Given the description of an element on the screen output the (x, y) to click on. 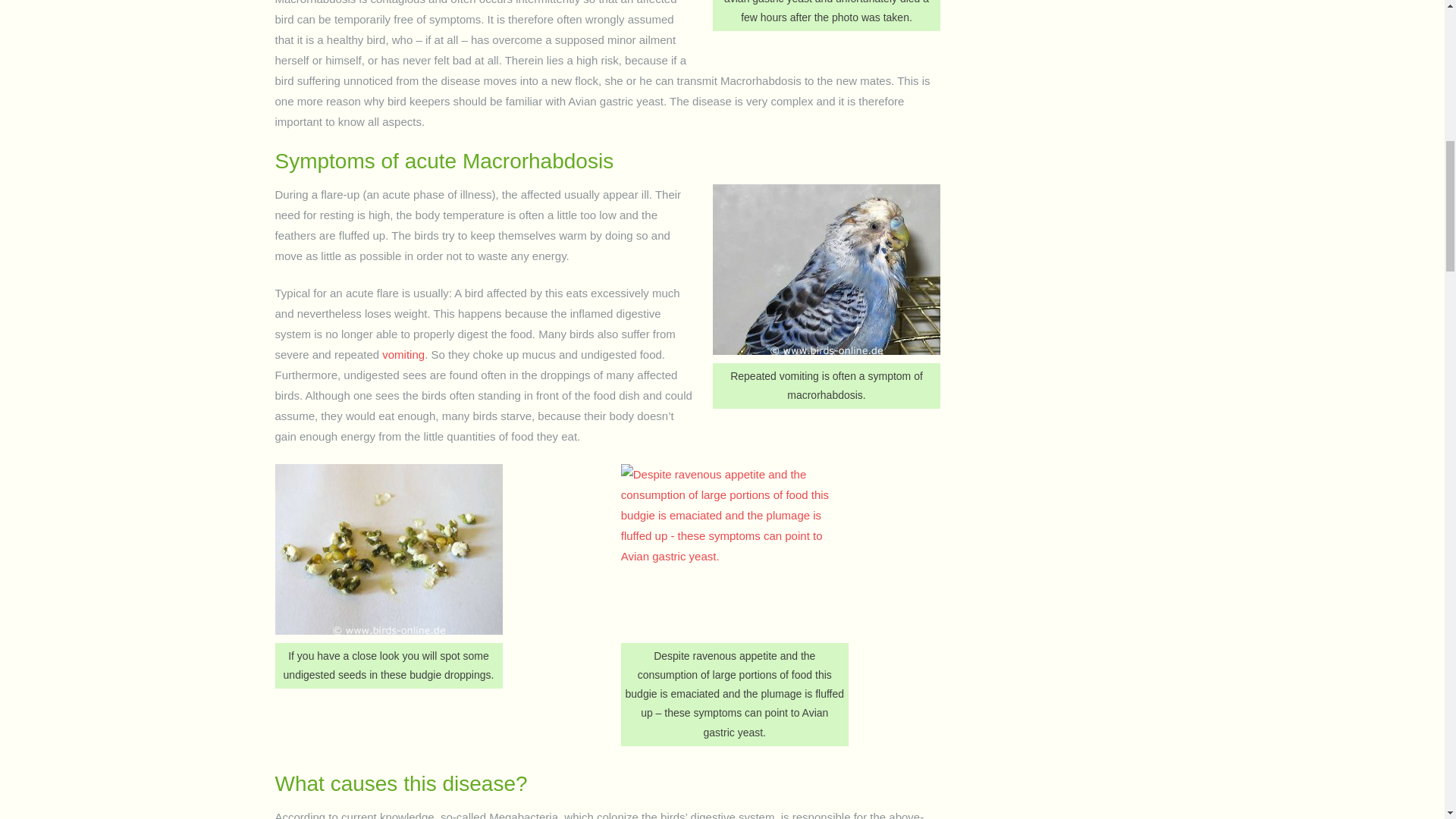
vomiting (403, 354)
